Given the description of an element on the screen output the (x, y) to click on. 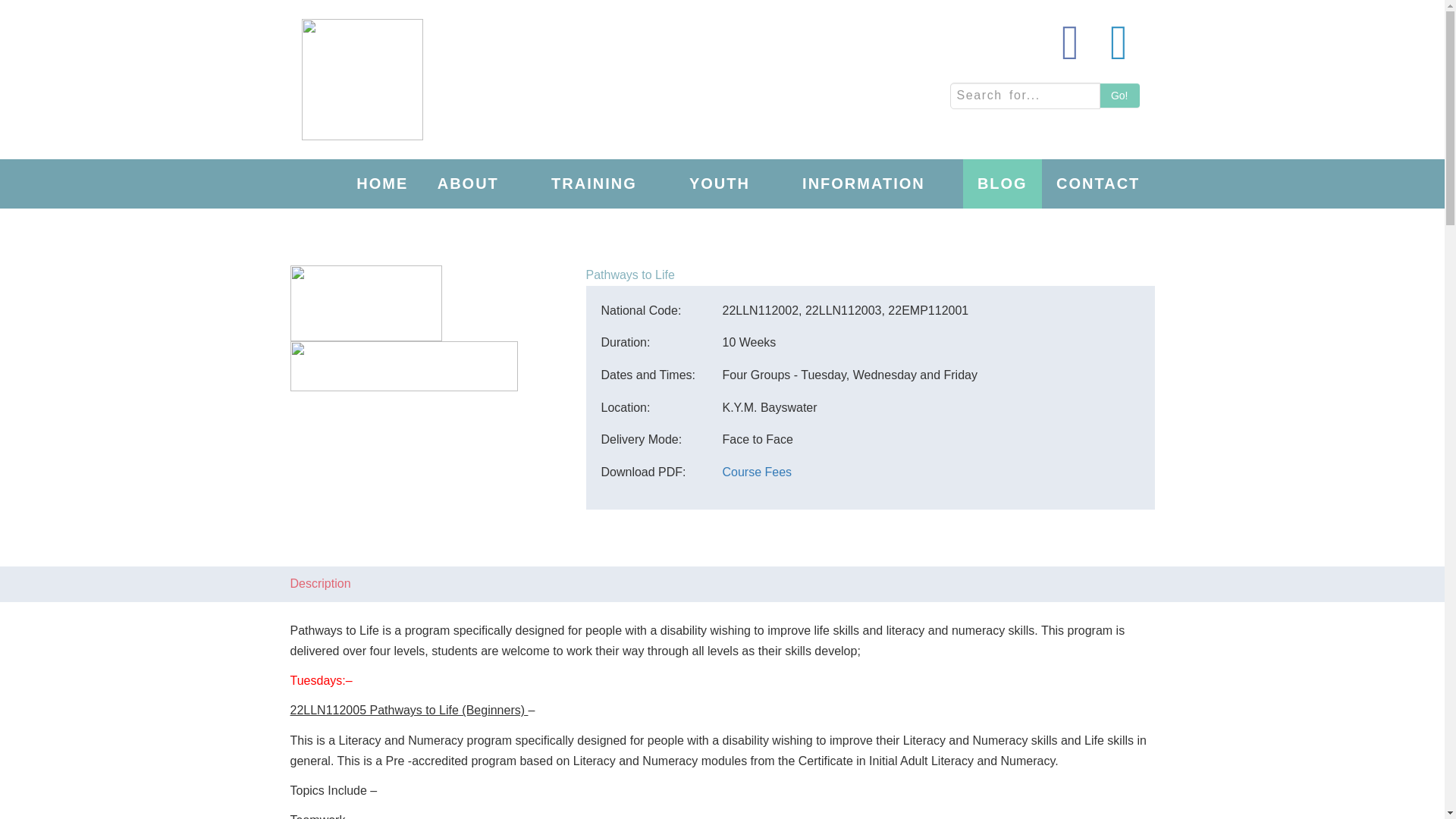
Click to check us out on LinkedIn. Element type: hover (1119, 42)
TRAINING Element type: text (605, 183)
Go! Element type: text (1119, 95)
KYM Element type: hover (362, 98)
YOUTH Element type: text (730, 183)
ABOUT Element type: text (479, 183)
CONTACT Element type: text (1097, 183)
HOME Element type: text (382, 183)
BLOG Element type: text (1002, 183)
INFORMATION Element type: text (875, 183)
Click to check us out on Facebook. Element type: hover (1070, 42)
Course Fees Element type: text (756, 471)
